Given the description of an element on the screen output the (x, y) to click on. 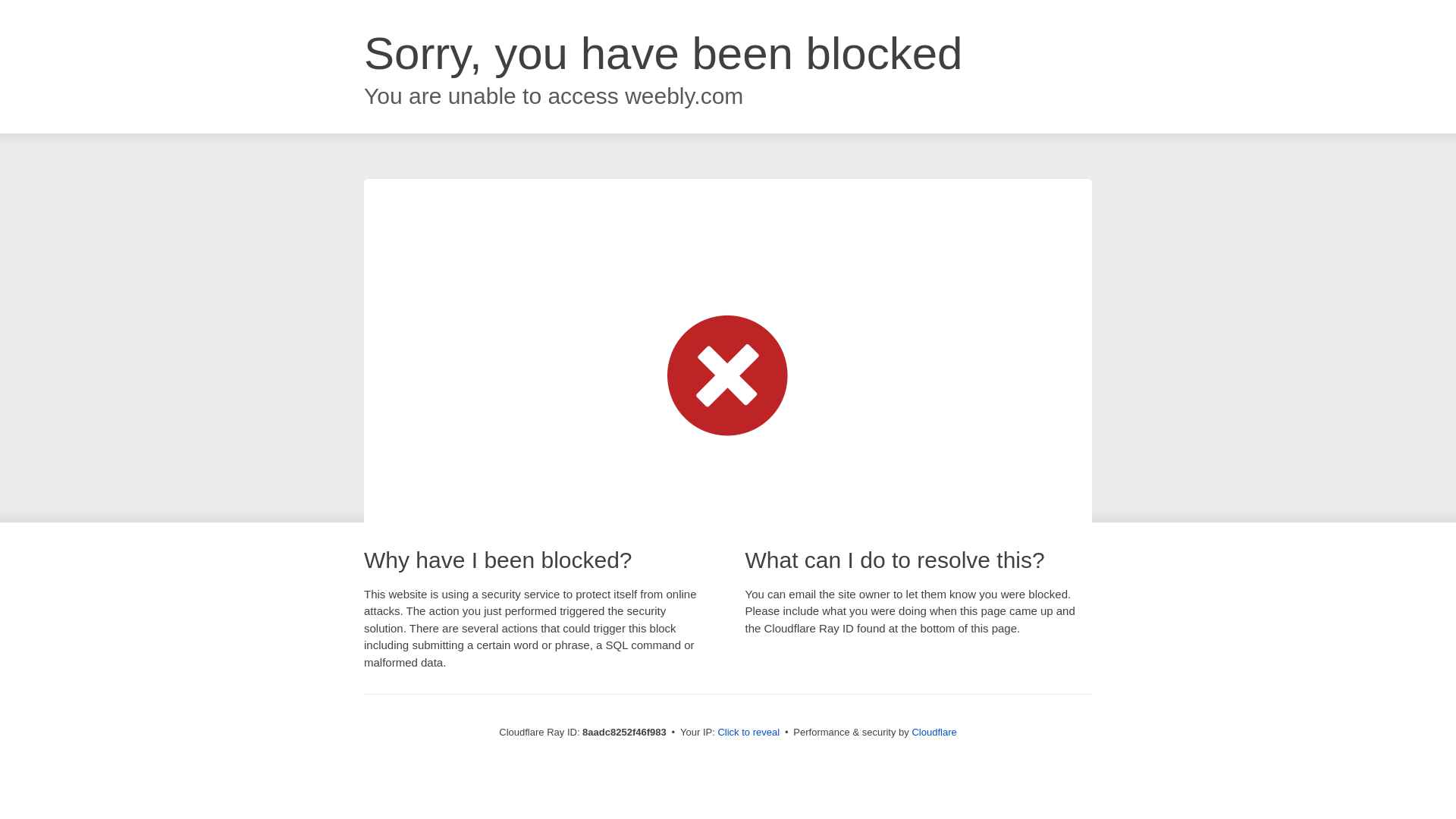
Cloudflare (933, 731)
Click to reveal (747, 732)
